Given the description of an element on the screen output the (x, y) to click on. 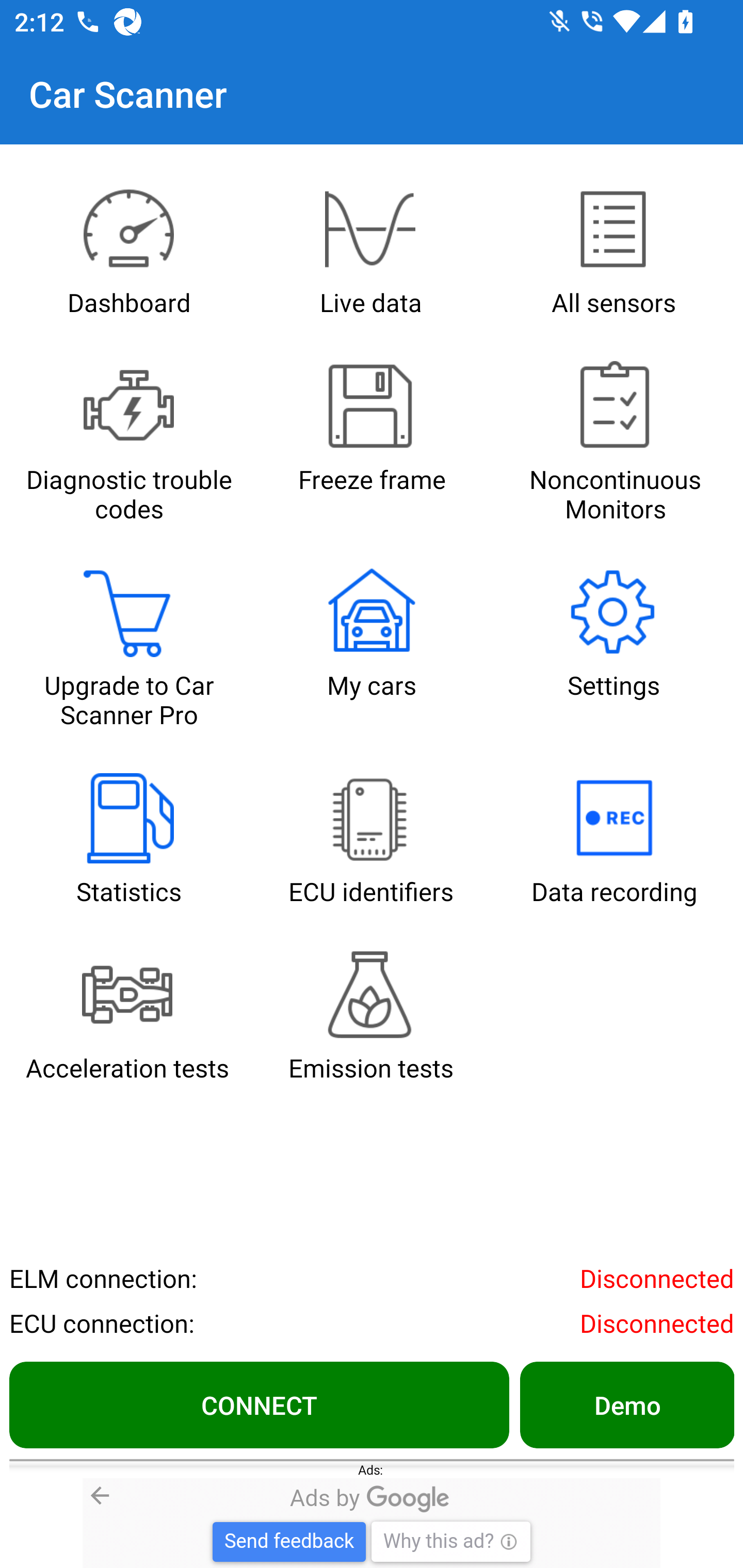
CONNECT (258, 1404)
Demo (627, 1404)
